Given the description of an element on the screen output the (x, y) to click on. 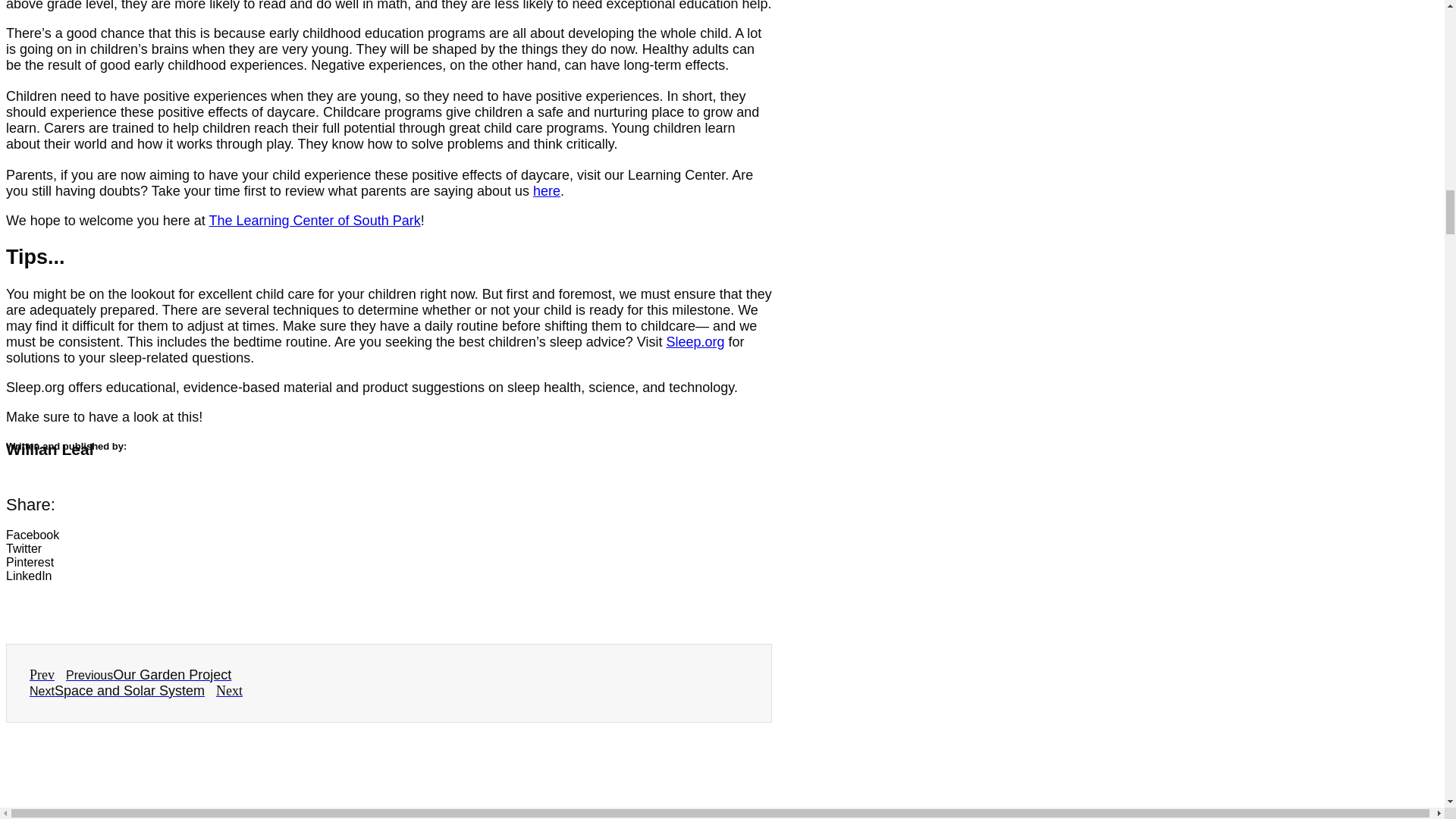
here (546, 191)
The Learning Center of South Park (314, 220)
NextSpace and Solar SystemNext (136, 690)
PrevPreviousOur Garden Project (130, 675)
Sleep.org (694, 340)
